Given the description of an element on the screen output the (x, y) to click on. 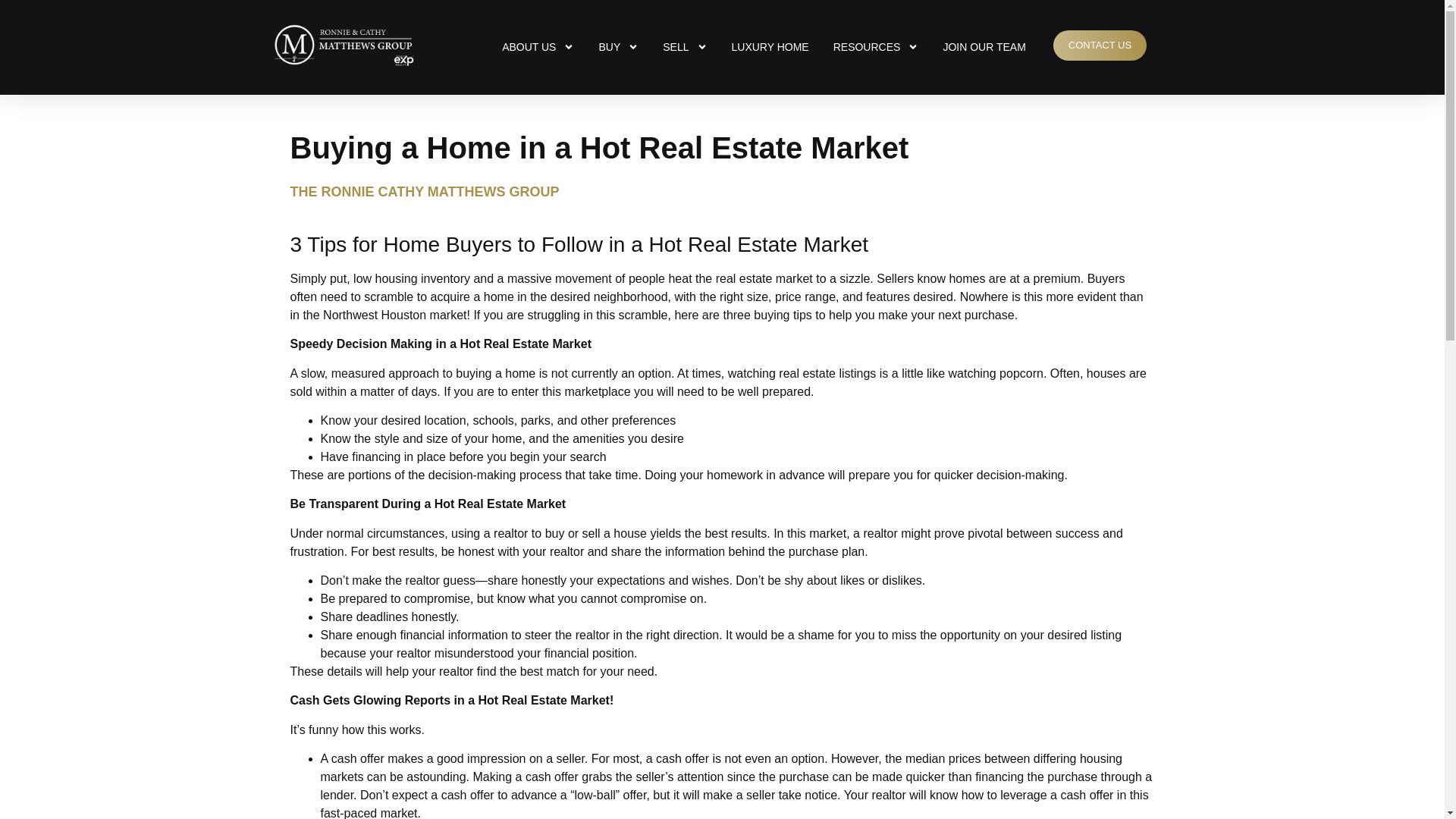
JOIN OUR TEAM (983, 46)
RESOURCES (876, 46)
SELL (684, 46)
ABOUT US (537, 46)
LUXURY HOME (770, 46)
BUY (618, 46)
